Given the description of an element on the screen output the (x, y) to click on. 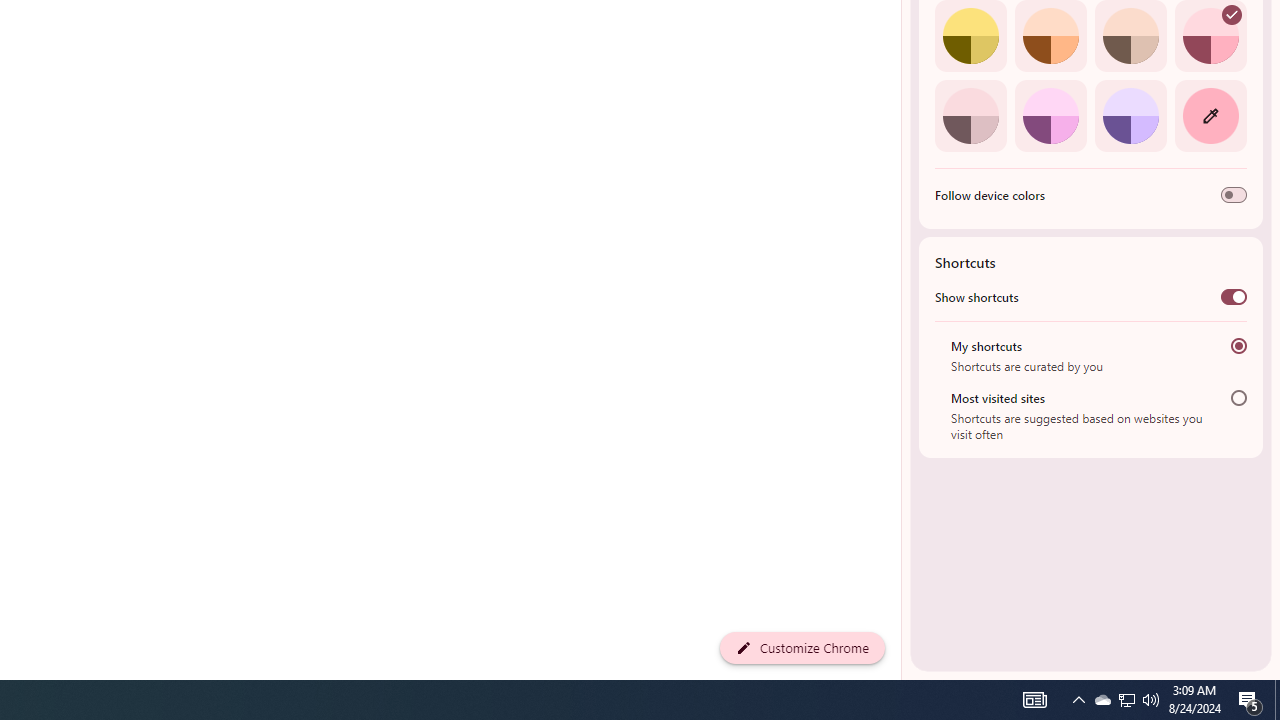
Customize Chrome (801, 647)
Show shortcuts (1233, 296)
Rose (1210, 36)
Custom color (1210, 115)
Fuchsia (1050, 115)
Apricot (1130, 36)
Most visited sites (1238, 398)
Pink (970, 115)
Citron (970, 36)
Orange (1050, 36)
AutomationID: svg (1231, 15)
Side Panel Resize Handle (905, 39)
Follow device colors (1233, 195)
My shortcuts (1238, 345)
